Given the description of an element on the screen output the (x, y) to click on. 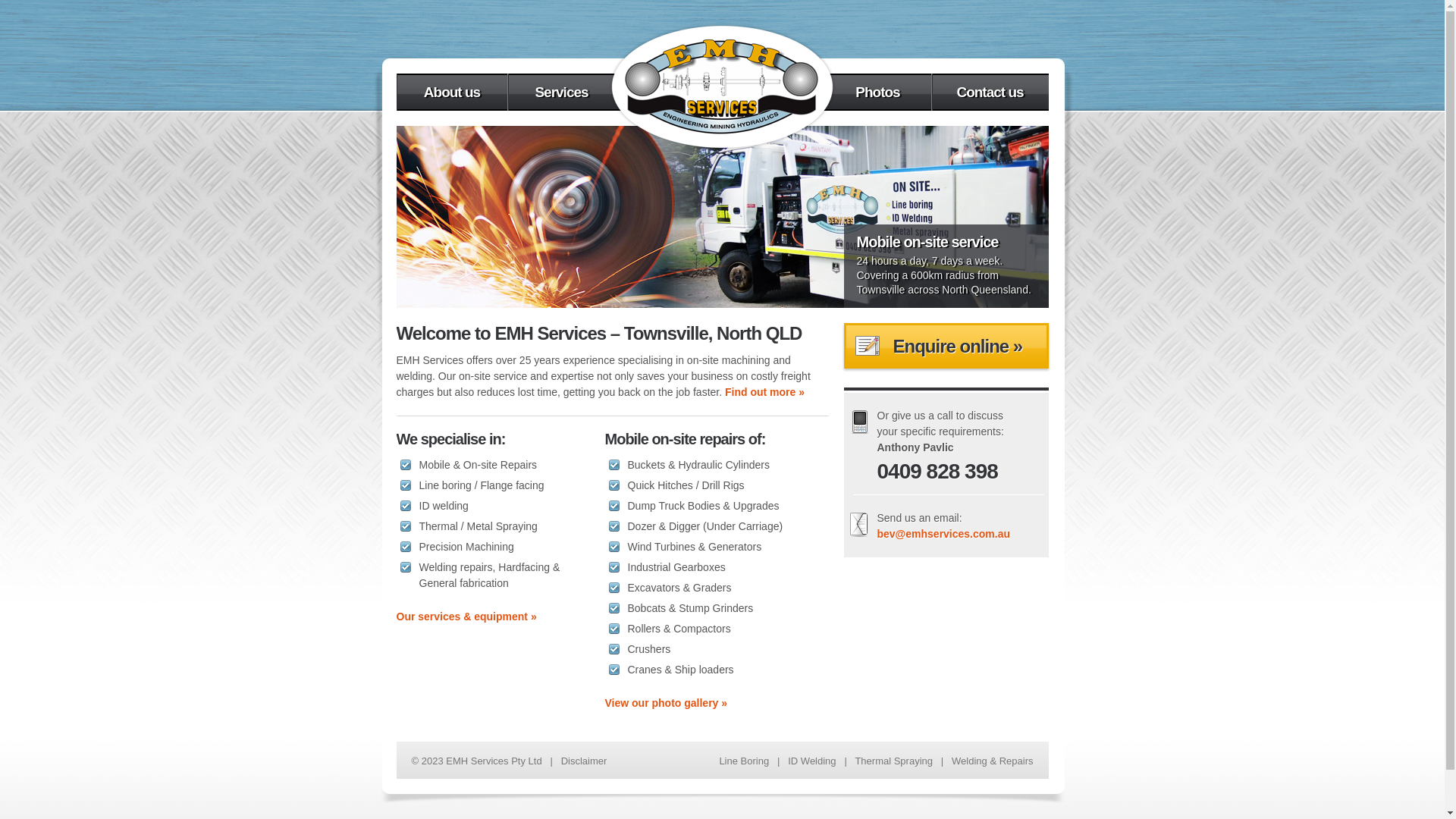
Disclaimer Element type: text (584, 760)
ID Welding Element type: text (811, 760)
bev@emhservices.com.au Element type: text (943, 533)
Welding & Repairs Element type: text (991, 760)
Thermal Spraying Element type: text (893, 760)
Line Boring Element type: text (743, 760)
Services Element type: text (565, 91)
Contact us Element type: text (989, 91)
About us Element type: text (450, 91)
EMH Services Pty Ltd Element type: text (721, 86)
Photos Element type: text (871, 91)
